Given the description of an element on the screen output the (x, y) to click on. 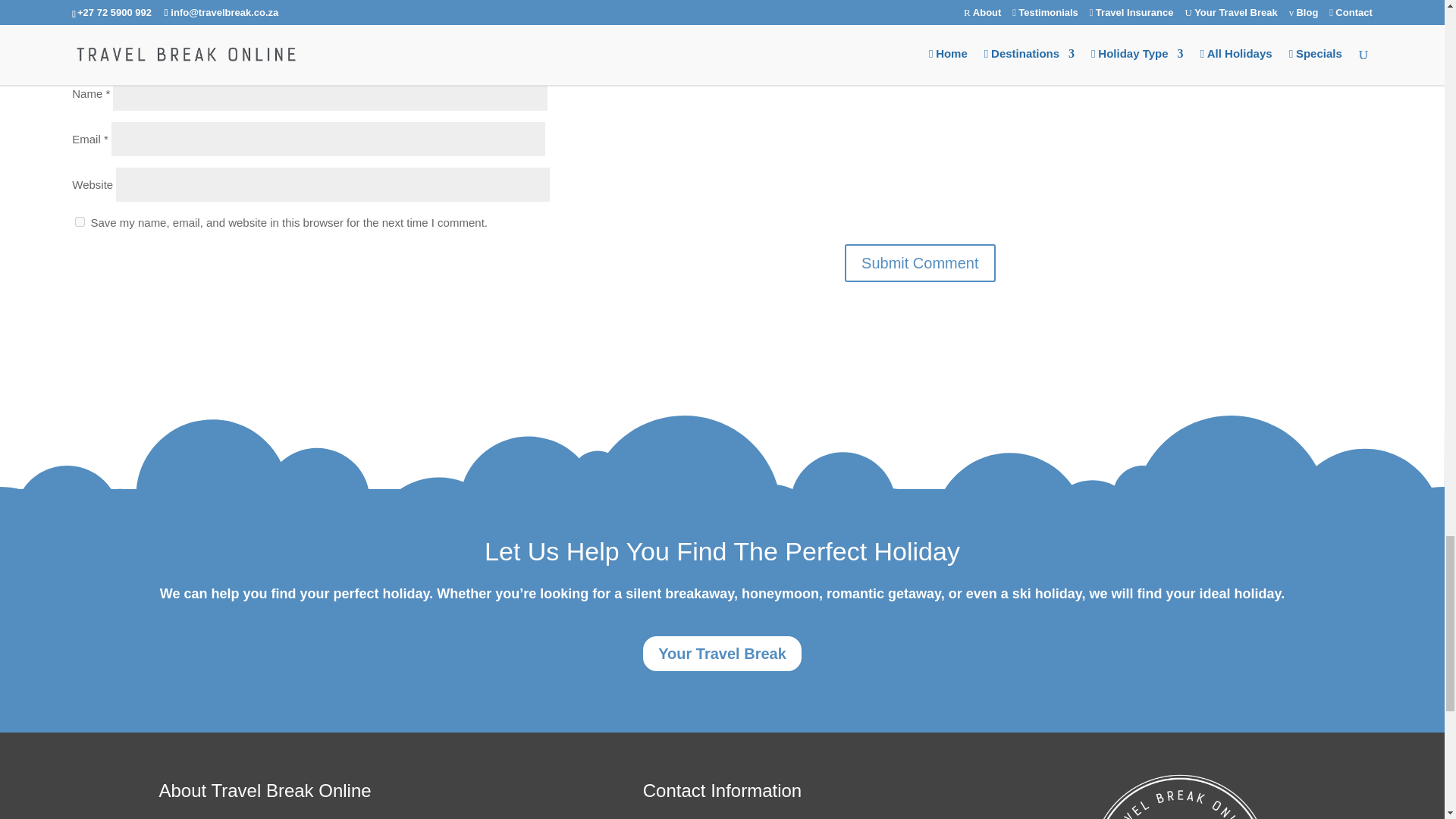
Submit Comment (919, 262)
Travel Break Online (1179, 794)
yes (79, 221)
